Given the description of an element on the screen output the (x, y) to click on. 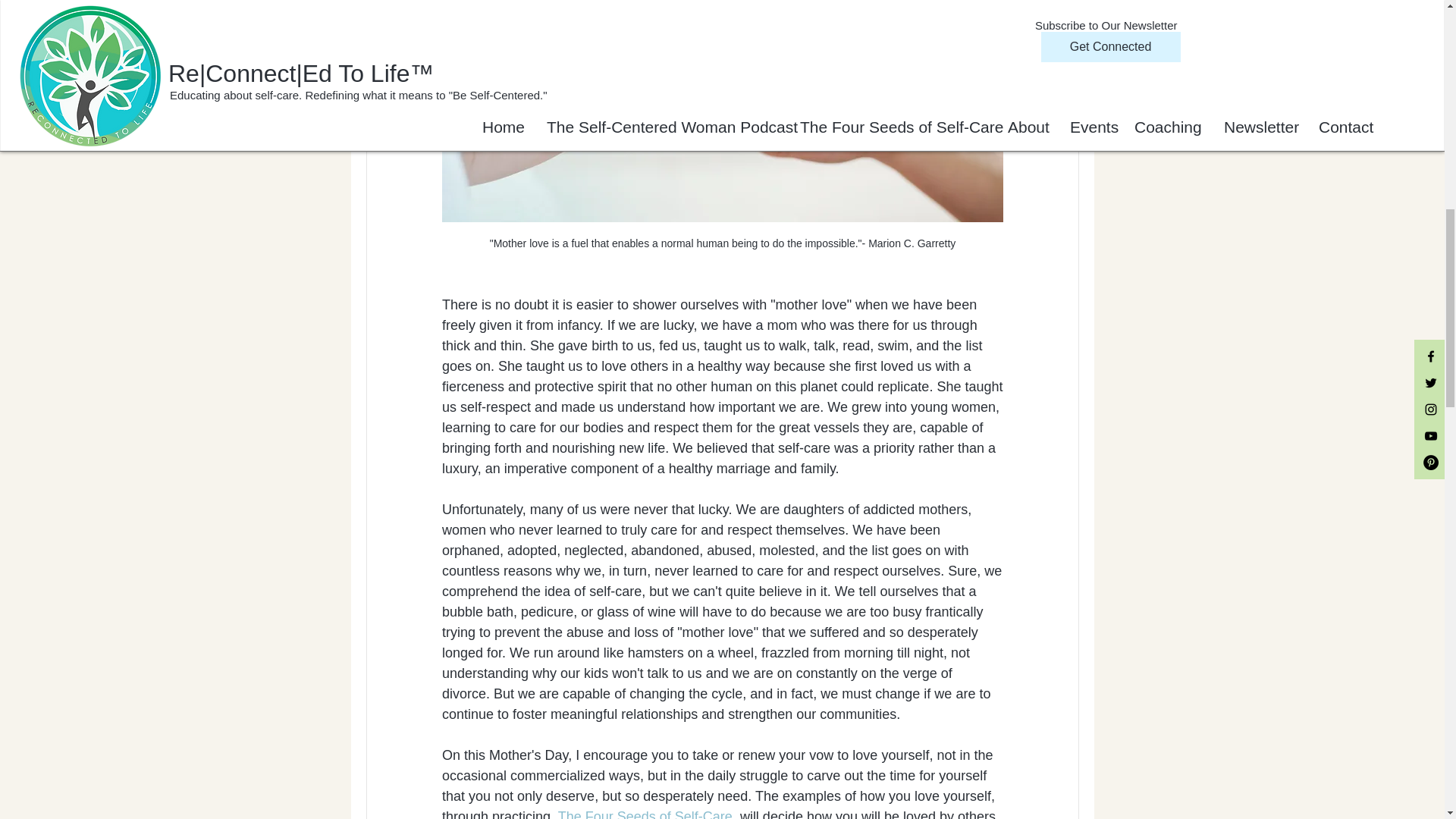
The Four Seeds of Self-Care (644, 814)
